Given the description of an element on the screen output the (x, y) to click on. 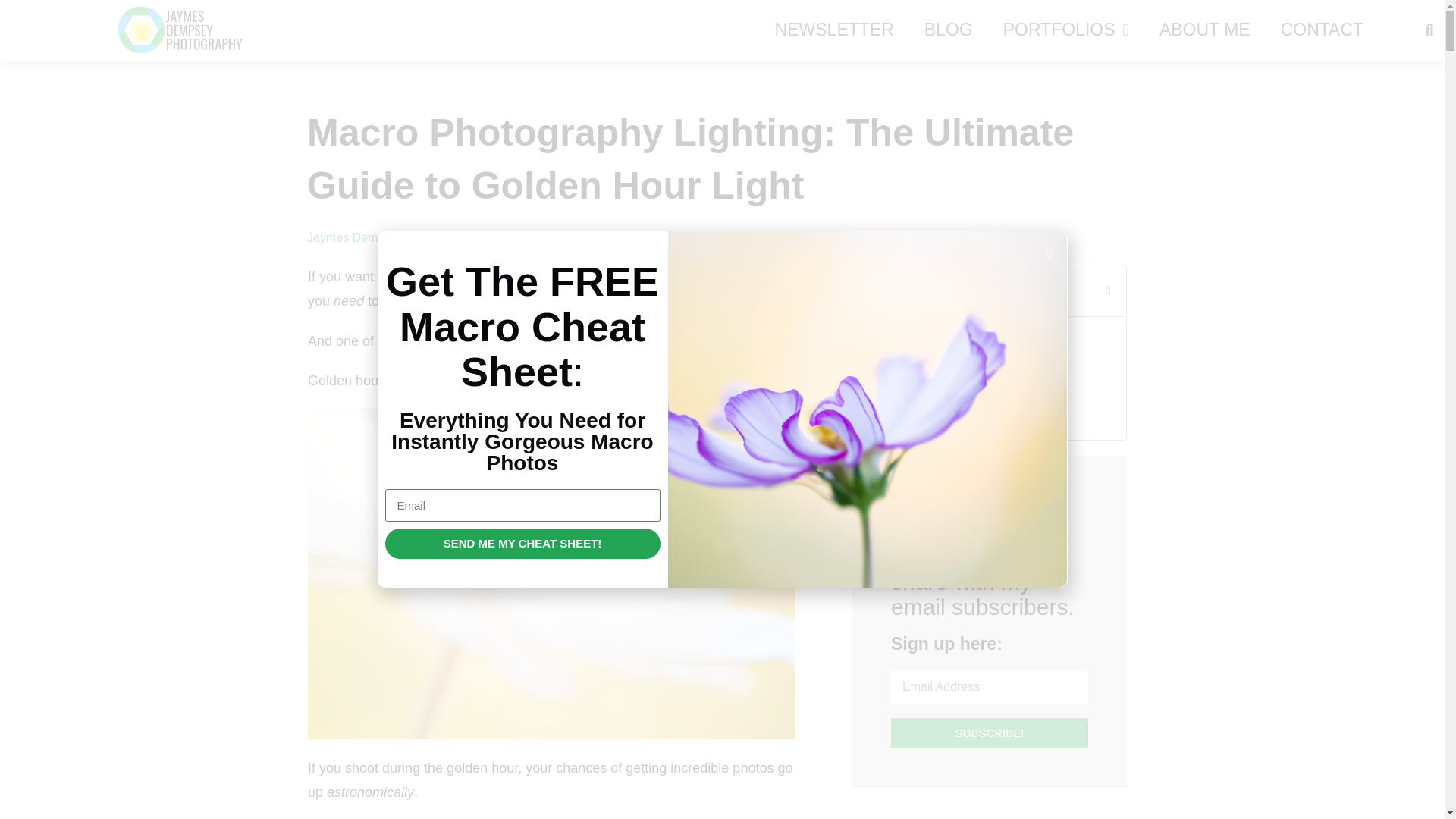
What Is Golden Hour Lighting? (966, 342)
macro photography lighting (563, 340)
BLOG (948, 29)
ABOUT ME (1204, 29)
CONTACT (1321, 29)
April 19, 2019 (459, 238)
NEWSLETTER (834, 29)
Types of Golden Hour Lighting (964, 371)
SUBSCRIBE! (989, 733)
PORTFOLIOS (1066, 29)
